Given the description of an element on the screen output the (x, y) to click on. 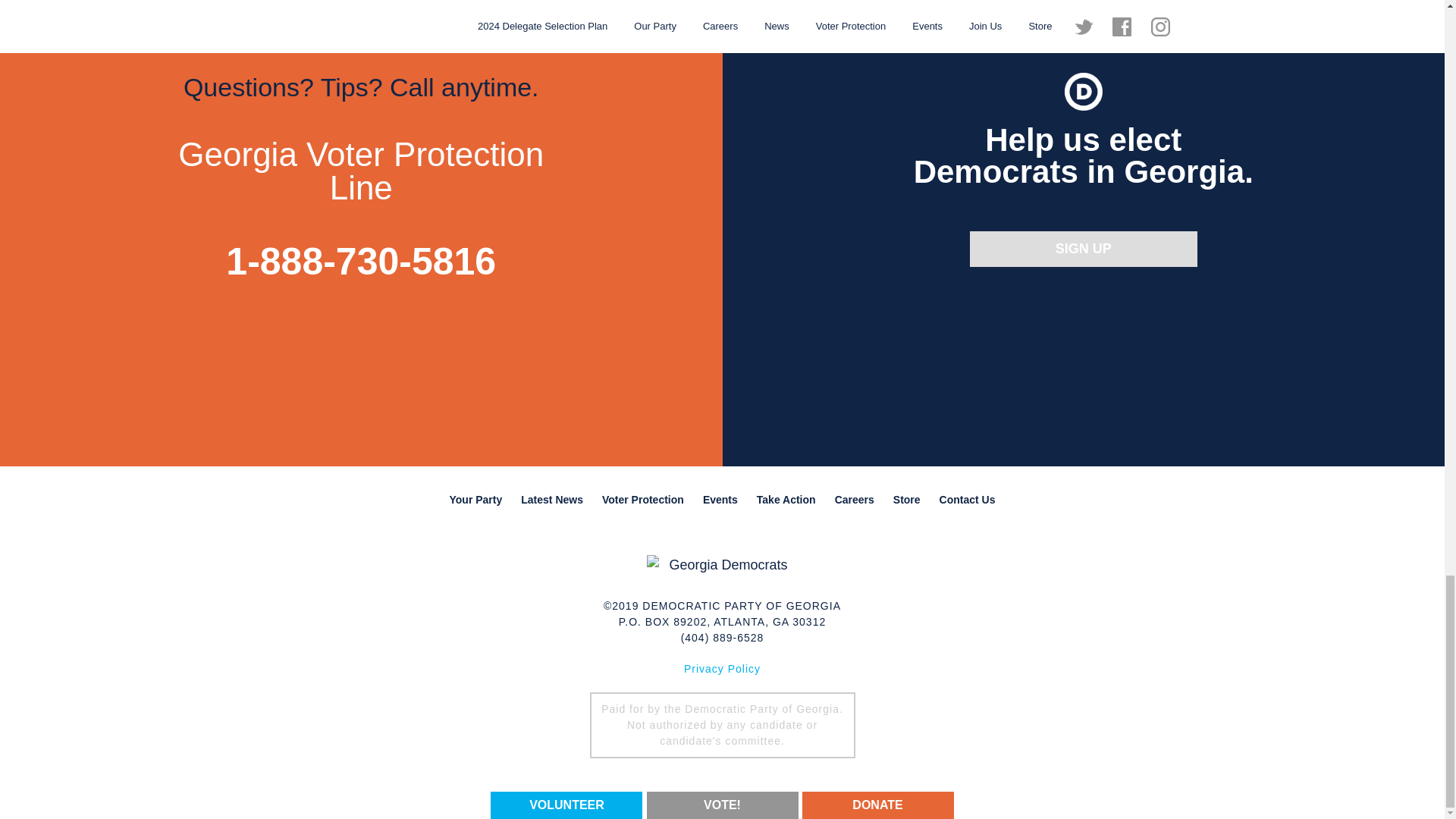
Events (720, 499)
Your Party (475, 499)
Latest News (552, 499)
Voter Protection (642, 499)
Take Action (786, 499)
Contact Us (967, 499)
Store (906, 499)
SIGN UP (1082, 248)
Careers (854, 499)
Privacy Policy (722, 668)
SIGN UP (1083, 248)
